Given the description of an element on the screen output the (x, y) to click on. 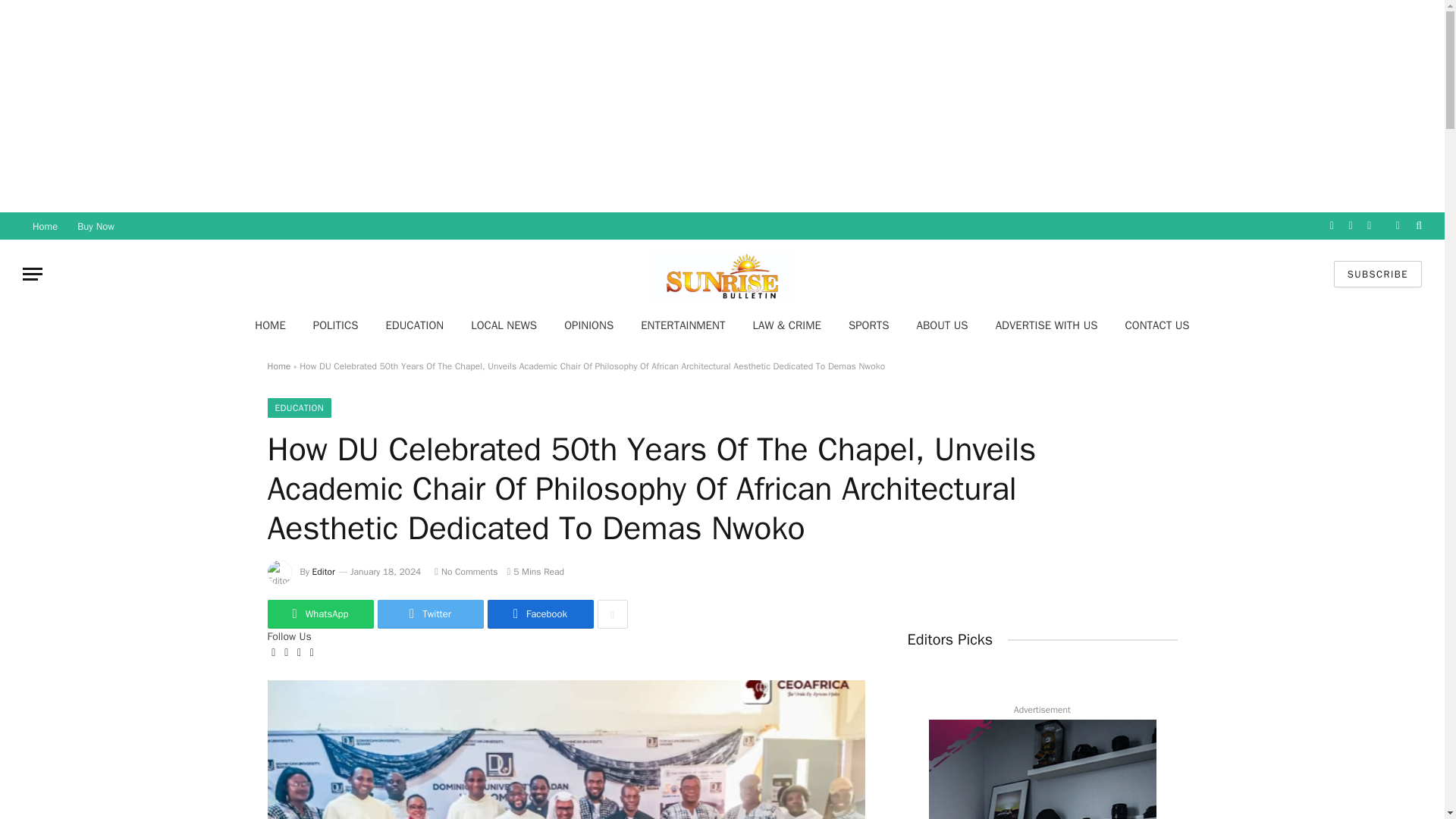
Home (277, 366)
LOCAL NEWS (503, 324)
EDUCATION (414, 324)
OPINIONS (588, 324)
ADVERTISE WITH US (1046, 324)
SUBSCRIBE (1377, 274)
CONTACT US (1158, 324)
Home (44, 225)
POLITICS (335, 324)
SPORTS (868, 324)
